Given the description of an element on the screen output the (x, y) to click on. 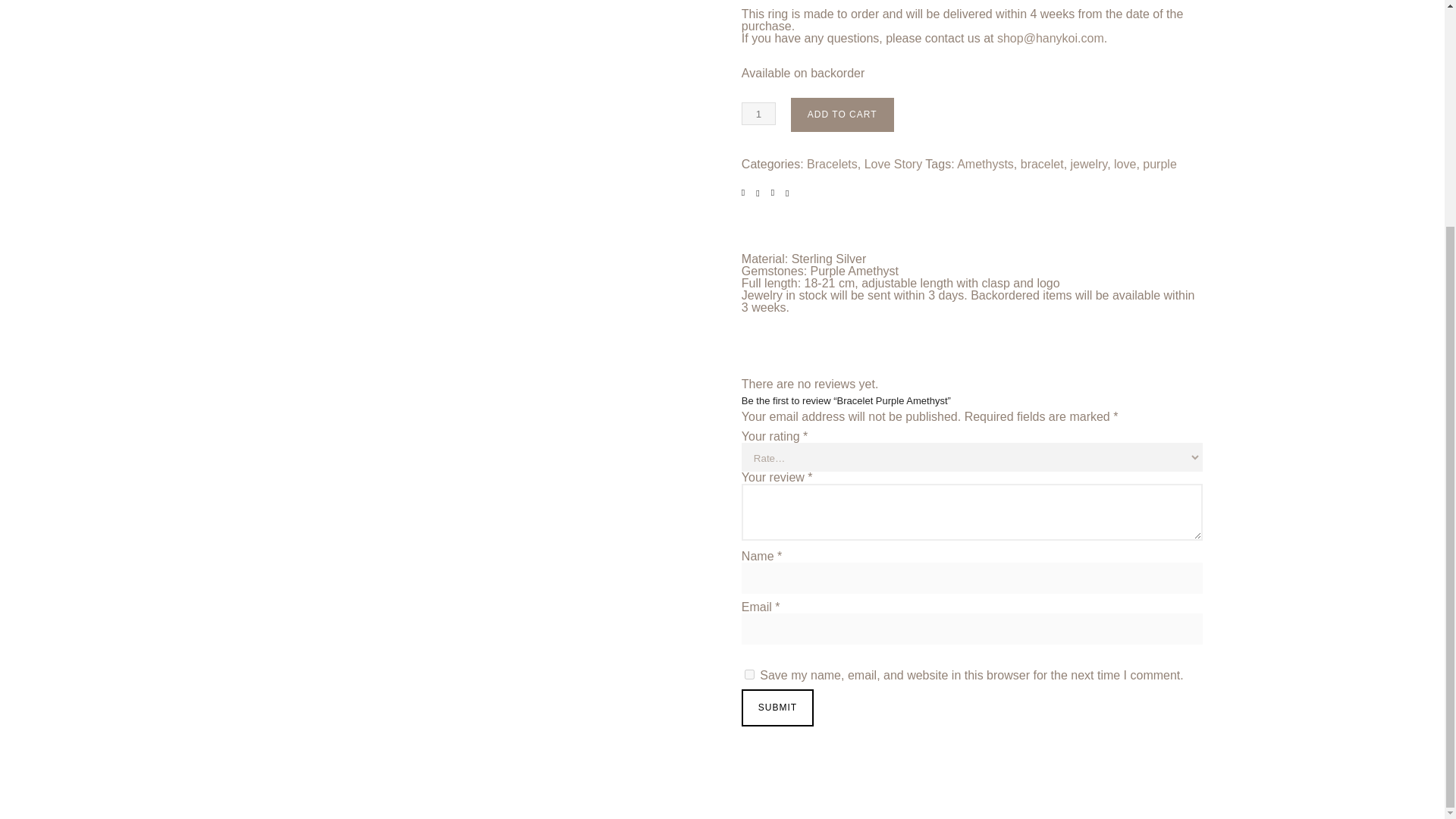
yes (749, 674)
Submit (777, 707)
1 (758, 113)
